Given the description of an element on the screen output the (x, y) to click on. 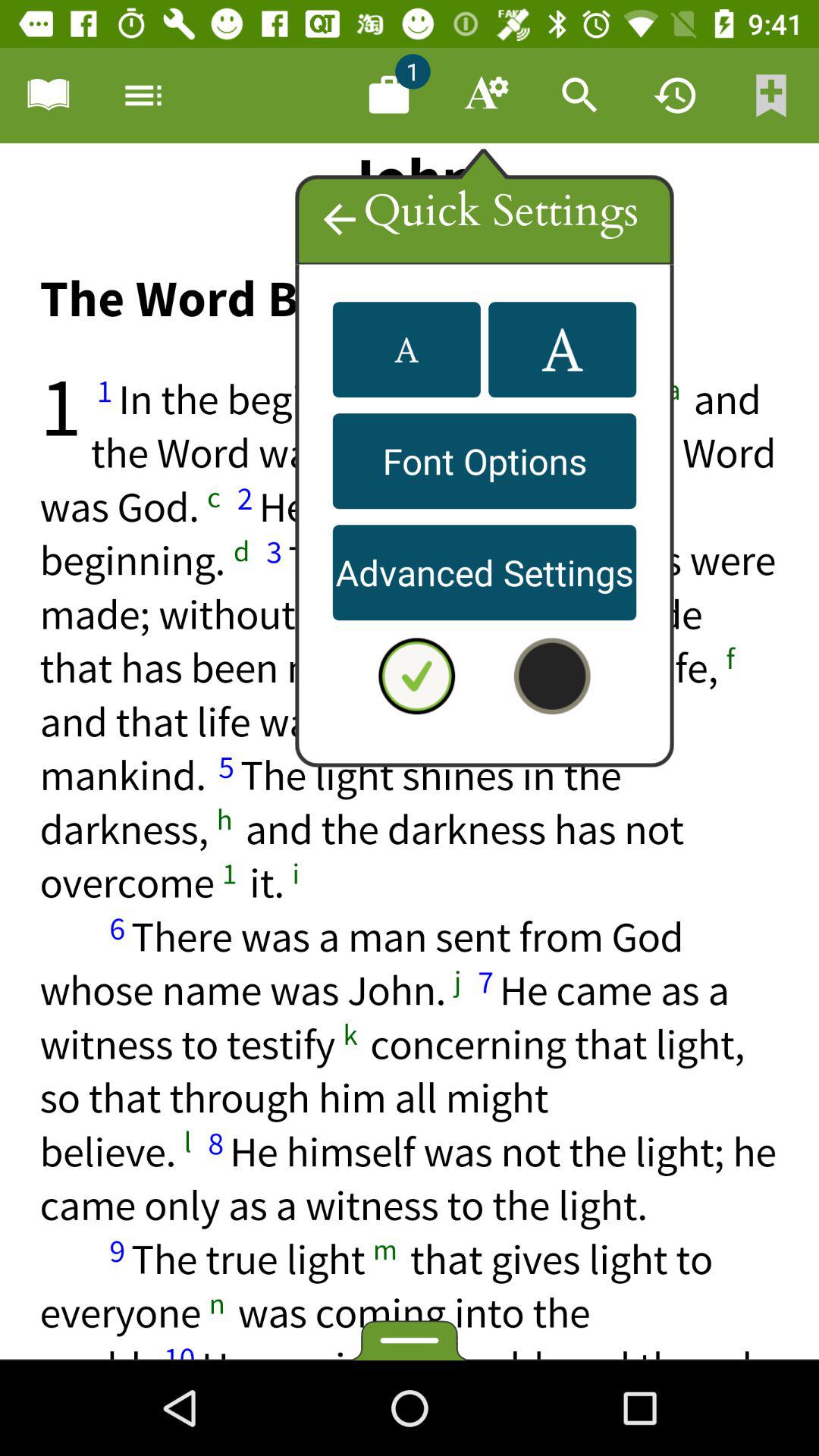
search app (579, 95)
